Given the description of an element on the screen output the (x, y) to click on. 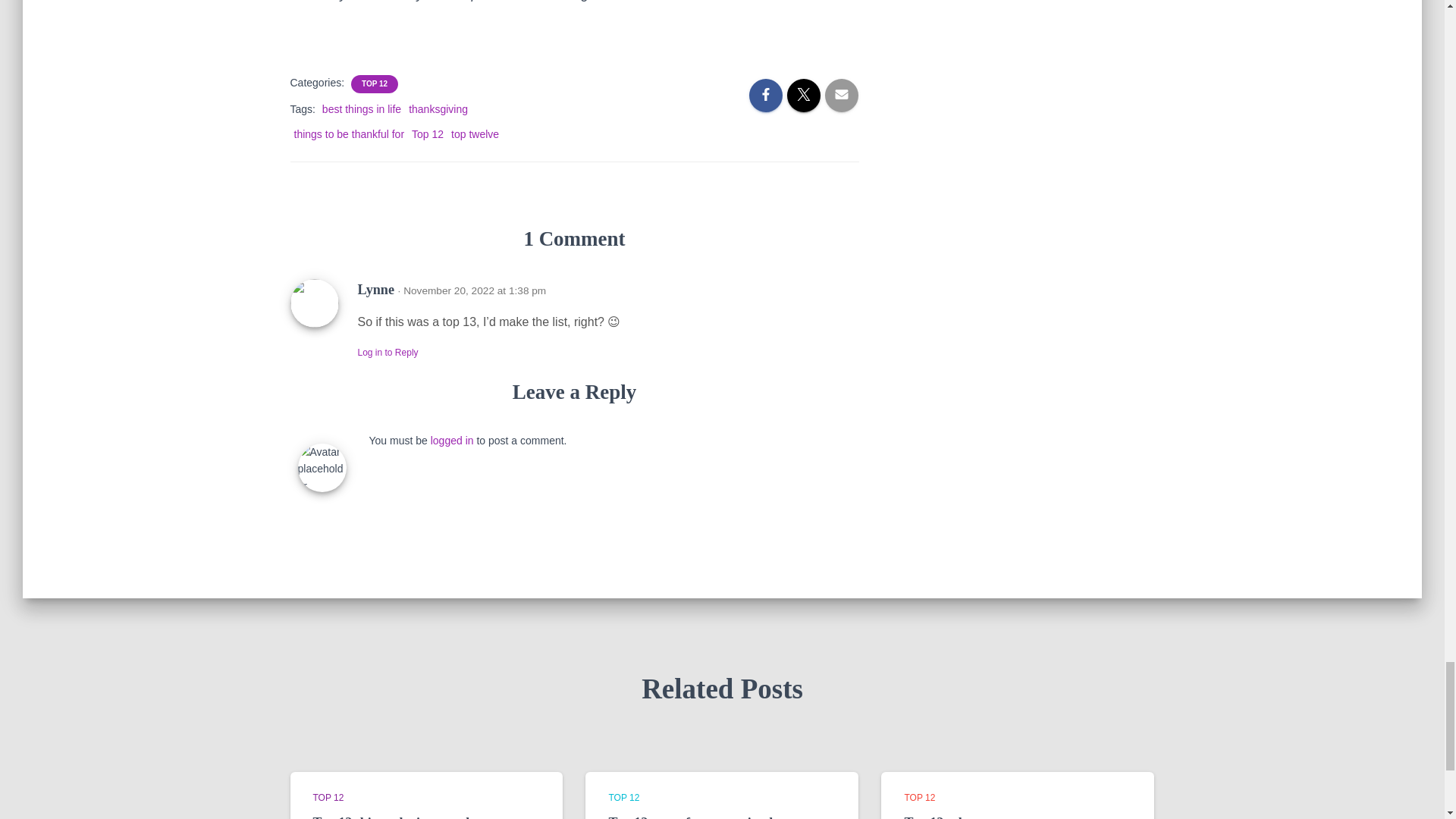
things to be thankful for (349, 133)
Top 12 things the internet hates (404, 816)
Top 12 cures for a vacation hangover (716, 816)
logged in (452, 440)
thanksgiving (438, 109)
TOP 12 (373, 83)
View all posts in Top 12 (623, 797)
best things in life (361, 109)
Top 12 (428, 133)
Top 12 other seasons (964, 816)
